Given the description of an element on the screen output the (x, y) to click on. 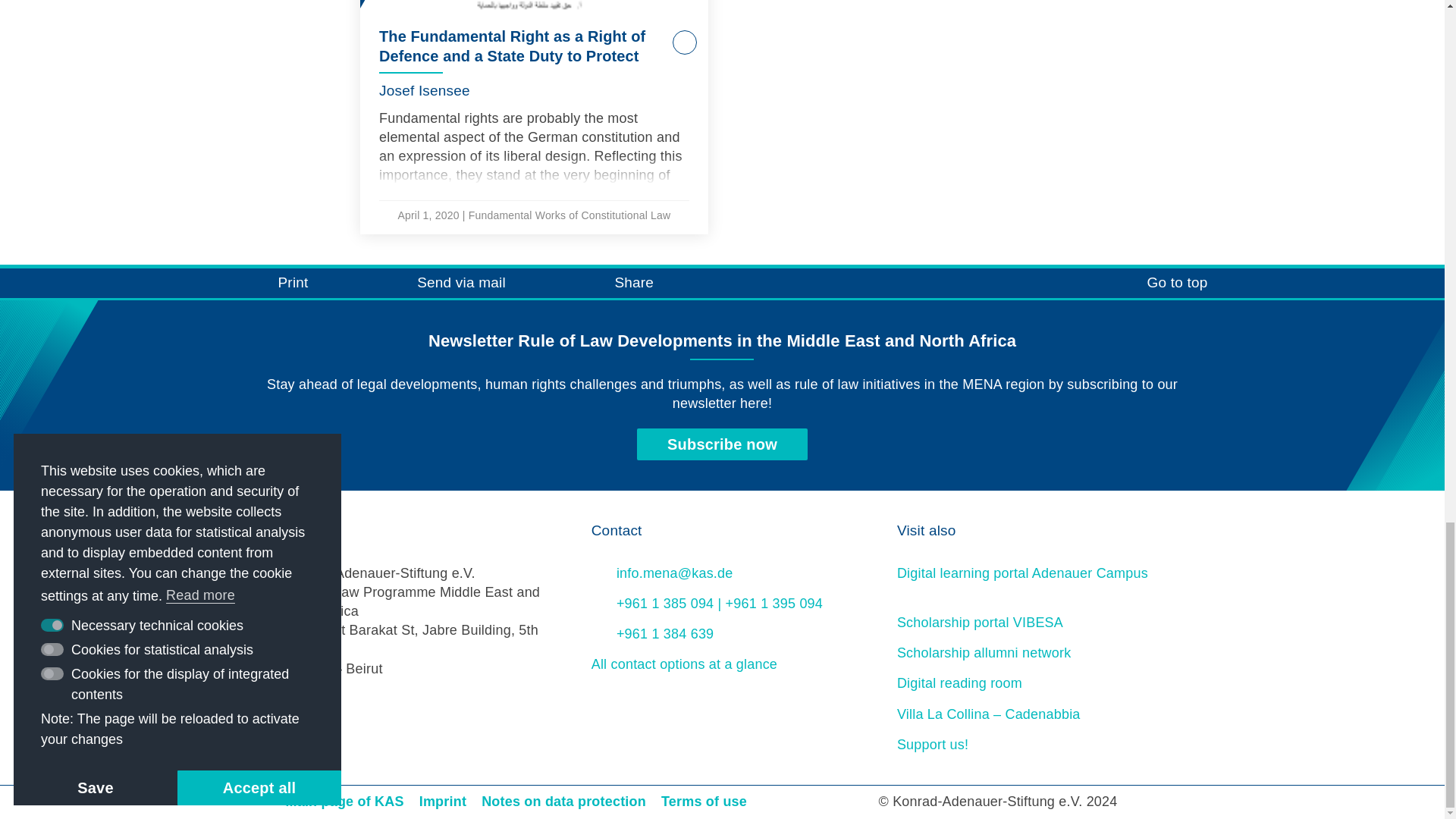
Print (271, 283)
Share (613, 283)
Send via mail (440, 283)
